Given the description of an element on the screen output the (x, y) to click on. 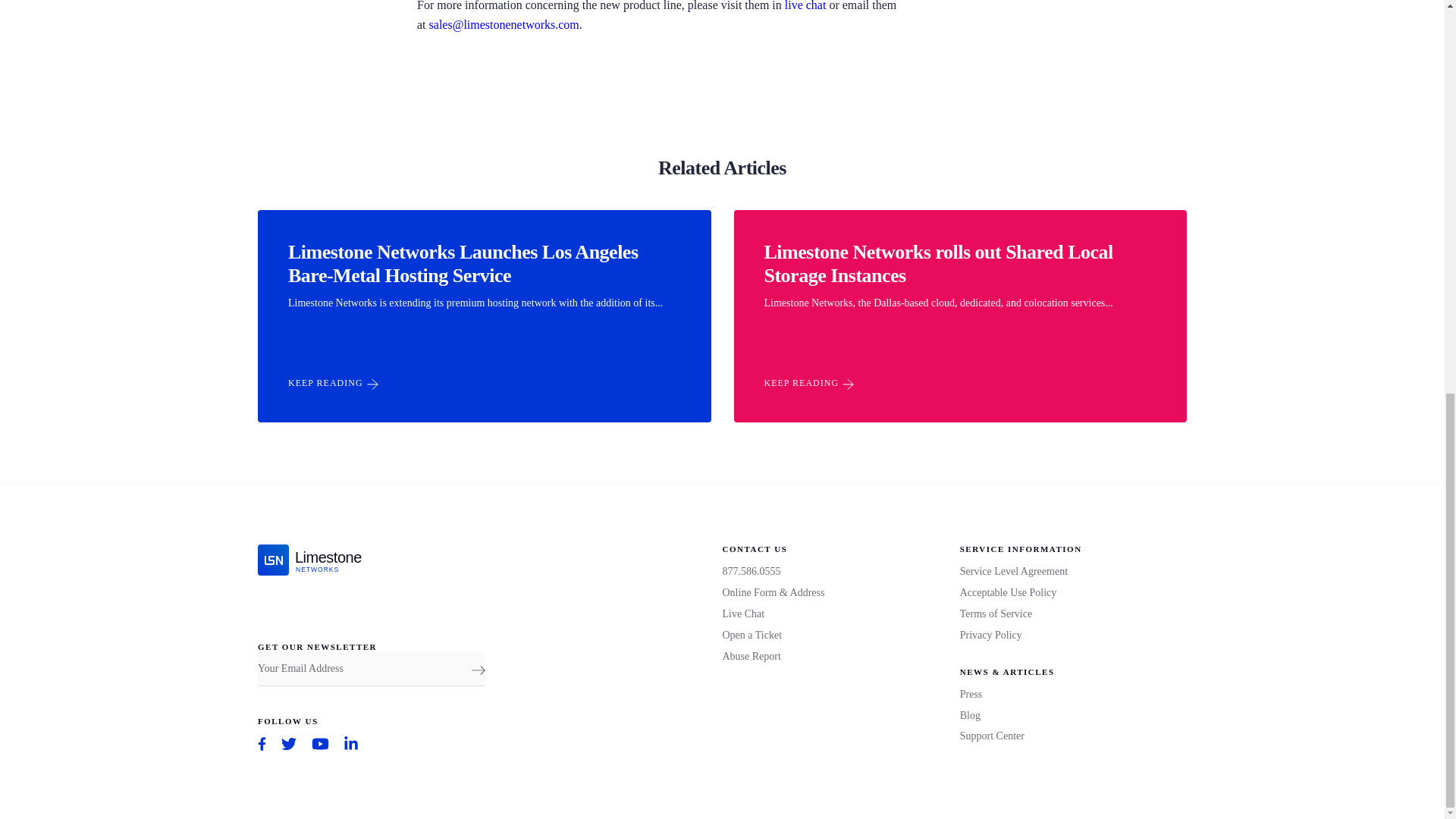
877.586.0555 (751, 571)
KEEP READING (333, 383)
KEEP READING (809, 383)
live chat (313, 559)
